Given the description of an element on the screen output the (x, y) to click on. 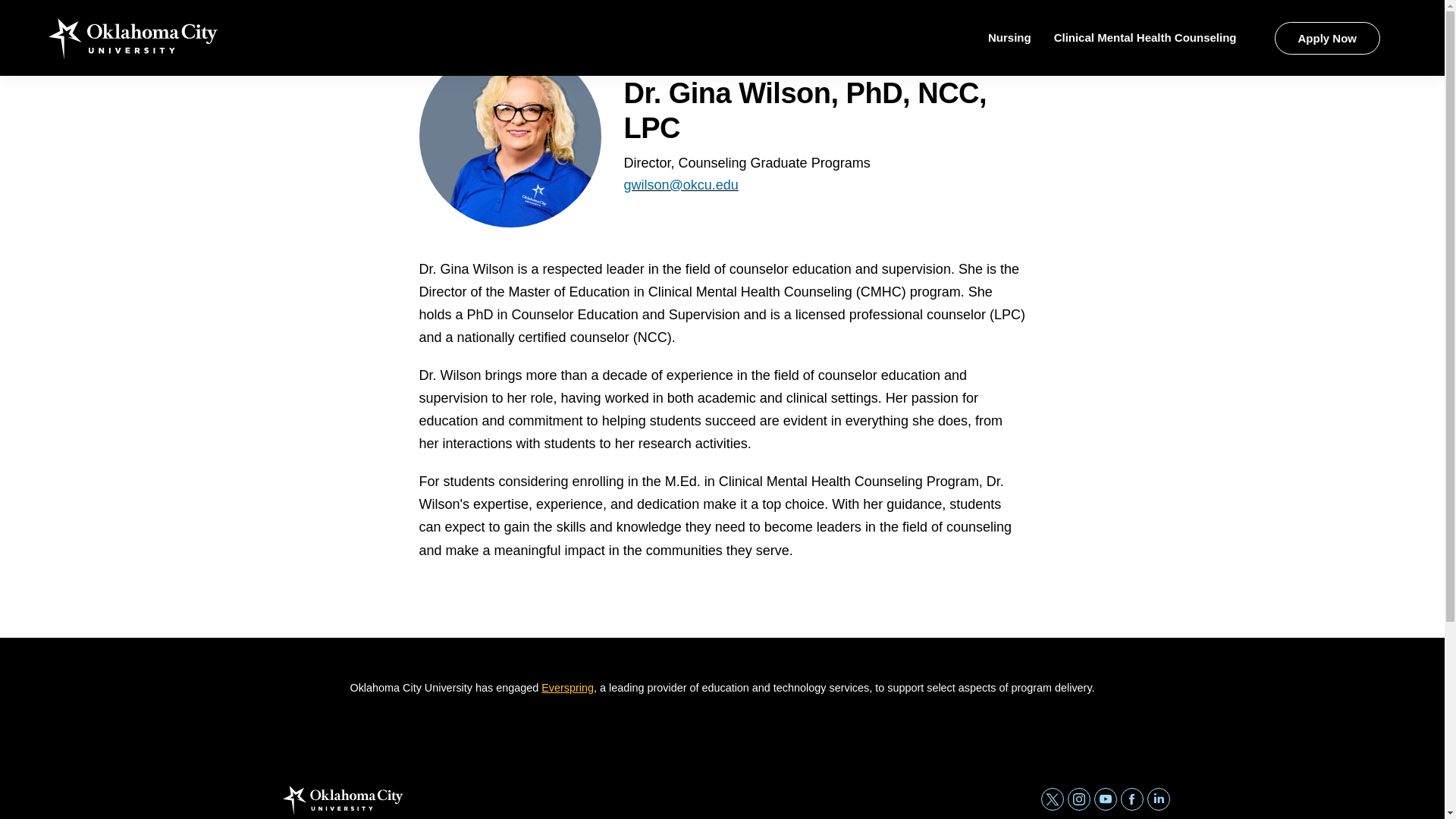
twitter (1051, 798)
Nursing (1009, 37)
Clinical Mental Health Counseling (1144, 37)
Everspring (567, 687)
instagram (1078, 798)
Apply Now (1327, 37)
